Given the description of an element on the screen output the (x, y) to click on. 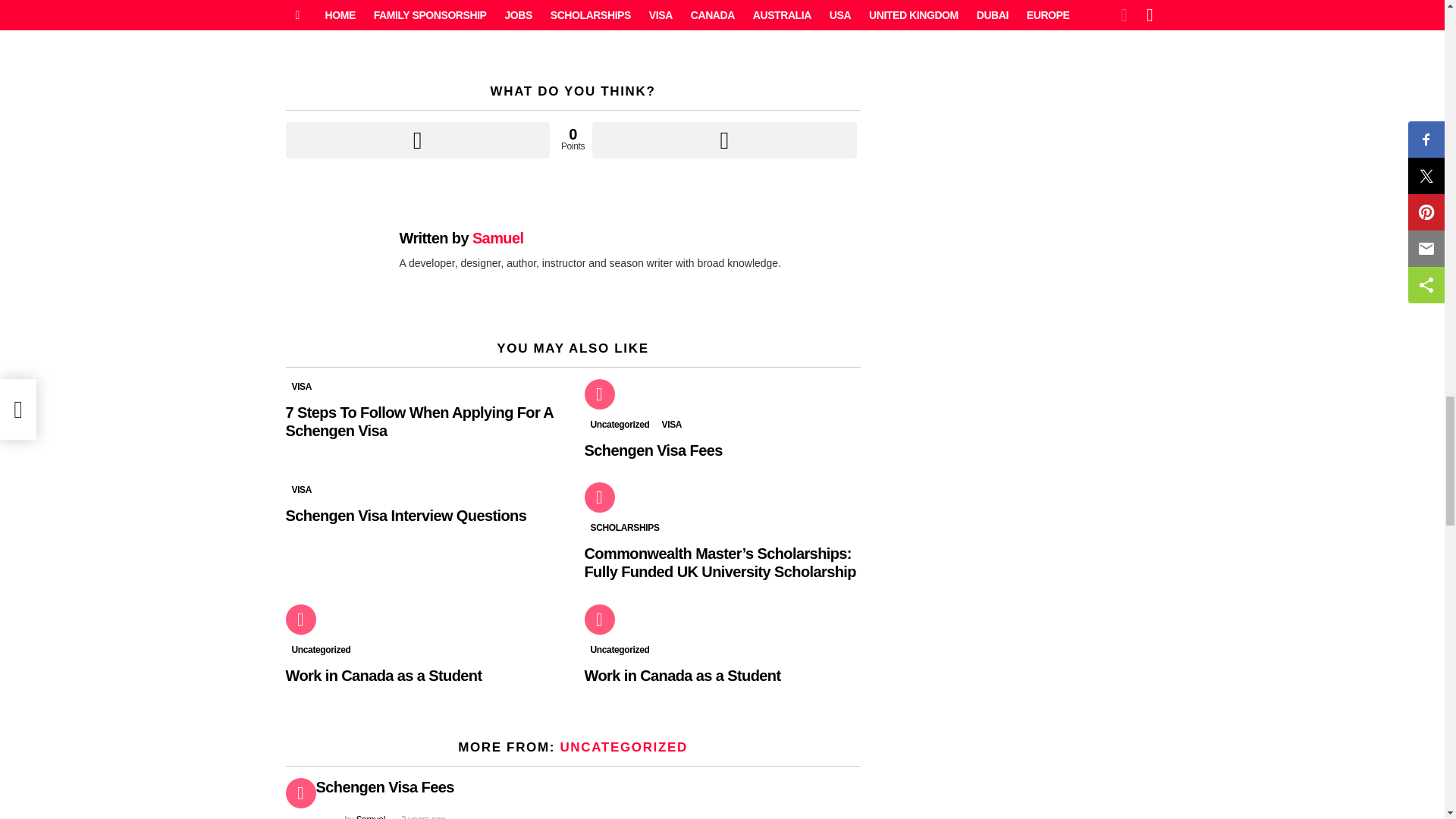
Samuel (497, 238)
Downvote (724, 140)
Popular (598, 394)
Downvote (724, 140)
Upvote (416, 140)
Popular (598, 497)
Upvote (416, 140)
